Given the description of an element on the screen output the (x, y) to click on. 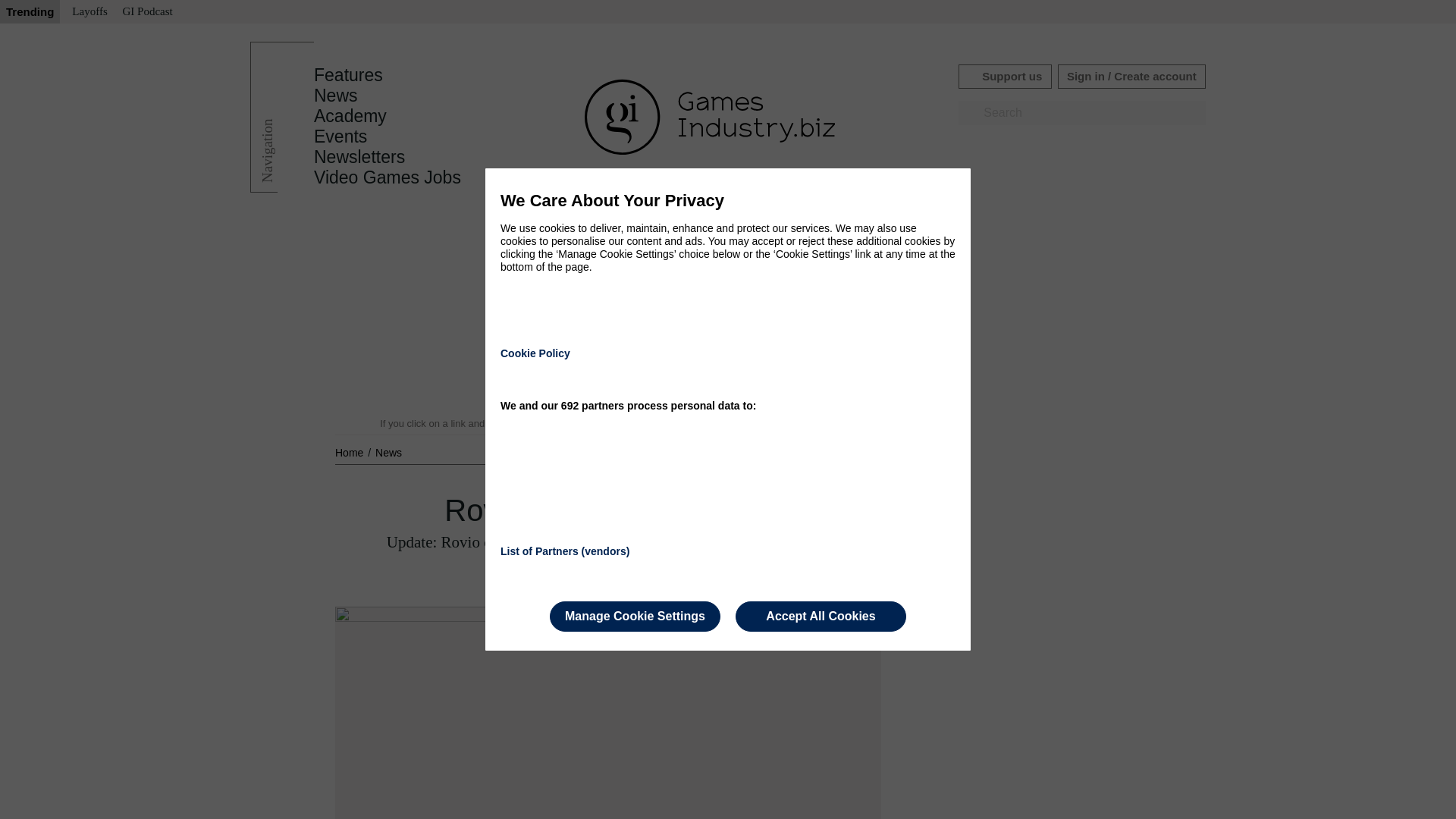
Home (350, 452)
Features (348, 75)
Academy (350, 116)
GI Podcast (146, 11)
News (336, 95)
GI Podcast (146, 11)
News (336, 95)
Academy (350, 116)
Newsletters (359, 157)
Events (340, 136)
